Given the description of an element on the screen output the (x, y) to click on. 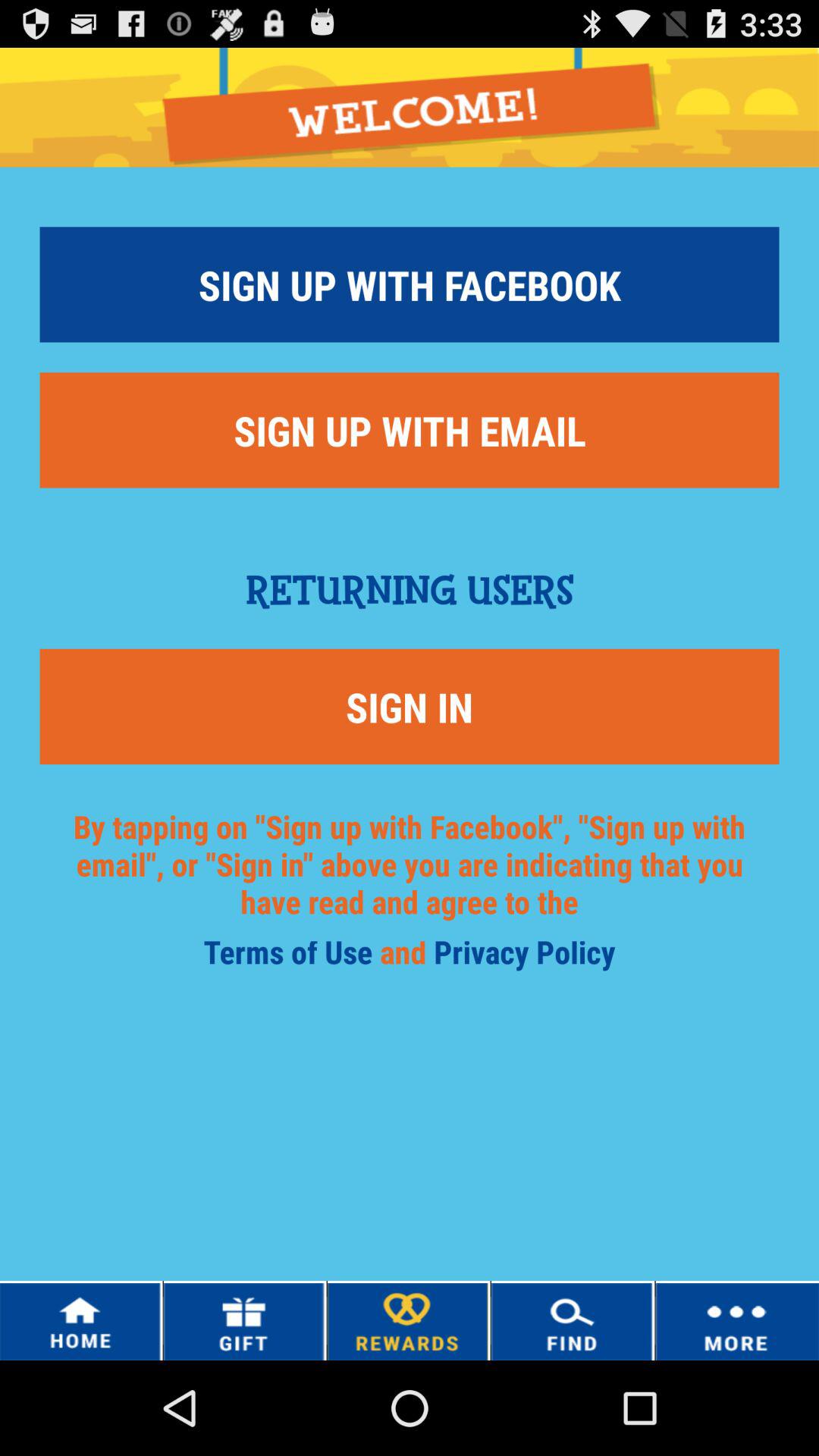
press the item below sign in item (291, 957)
